Given the description of an element on the screen output the (x, y) to click on. 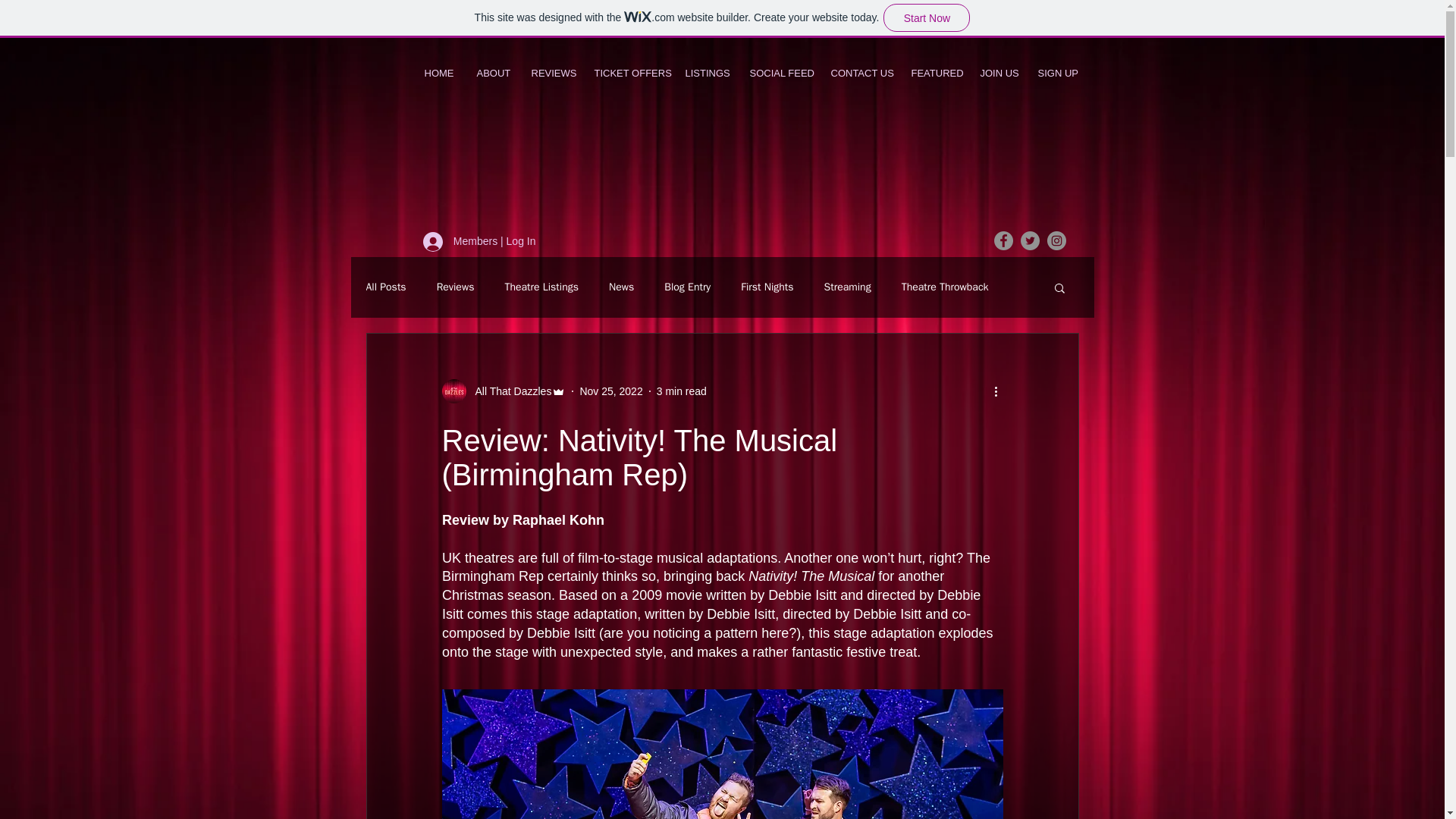
All That Dazzles (503, 391)
Nov 25, 2022 (610, 390)
HOME (438, 73)
News (620, 287)
ABOUT (492, 73)
First Nights (767, 287)
REVIEWS (551, 73)
CONTACT US (858, 73)
Theatre Throwback (944, 287)
Streaming (847, 287)
All Posts (385, 287)
Blog Entry (686, 287)
LISTINGS (705, 73)
Reviews (455, 287)
All That Dazzles (508, 391)
